Given the description of an element on the screen output the (x, y) to click on. 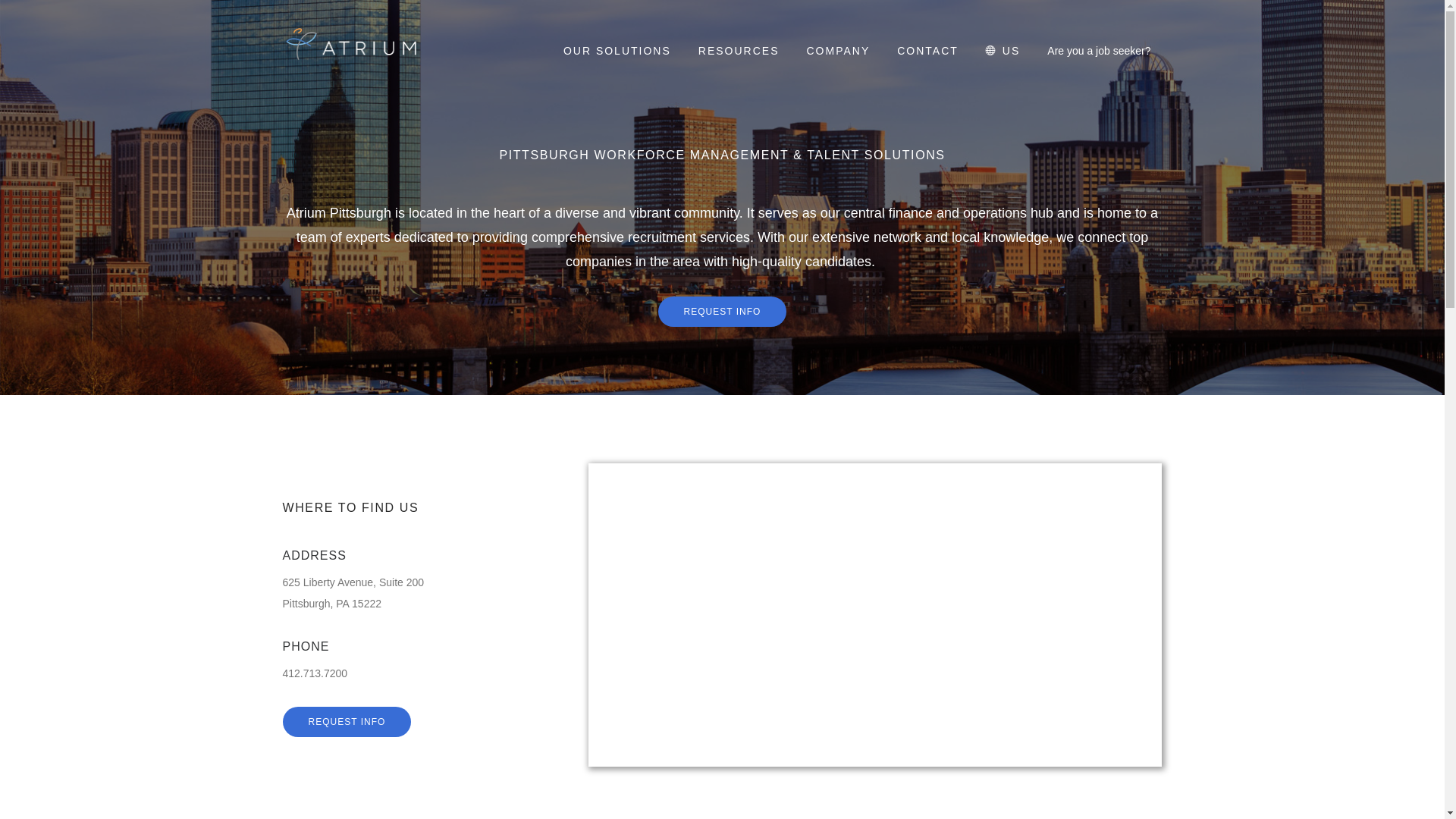
RESOURCES (740, 50)
OUR SOLUTIONS (619, 50)
COMPANY (839, 50)
